Given the description of an element on the screen output the (x, y) to click on. 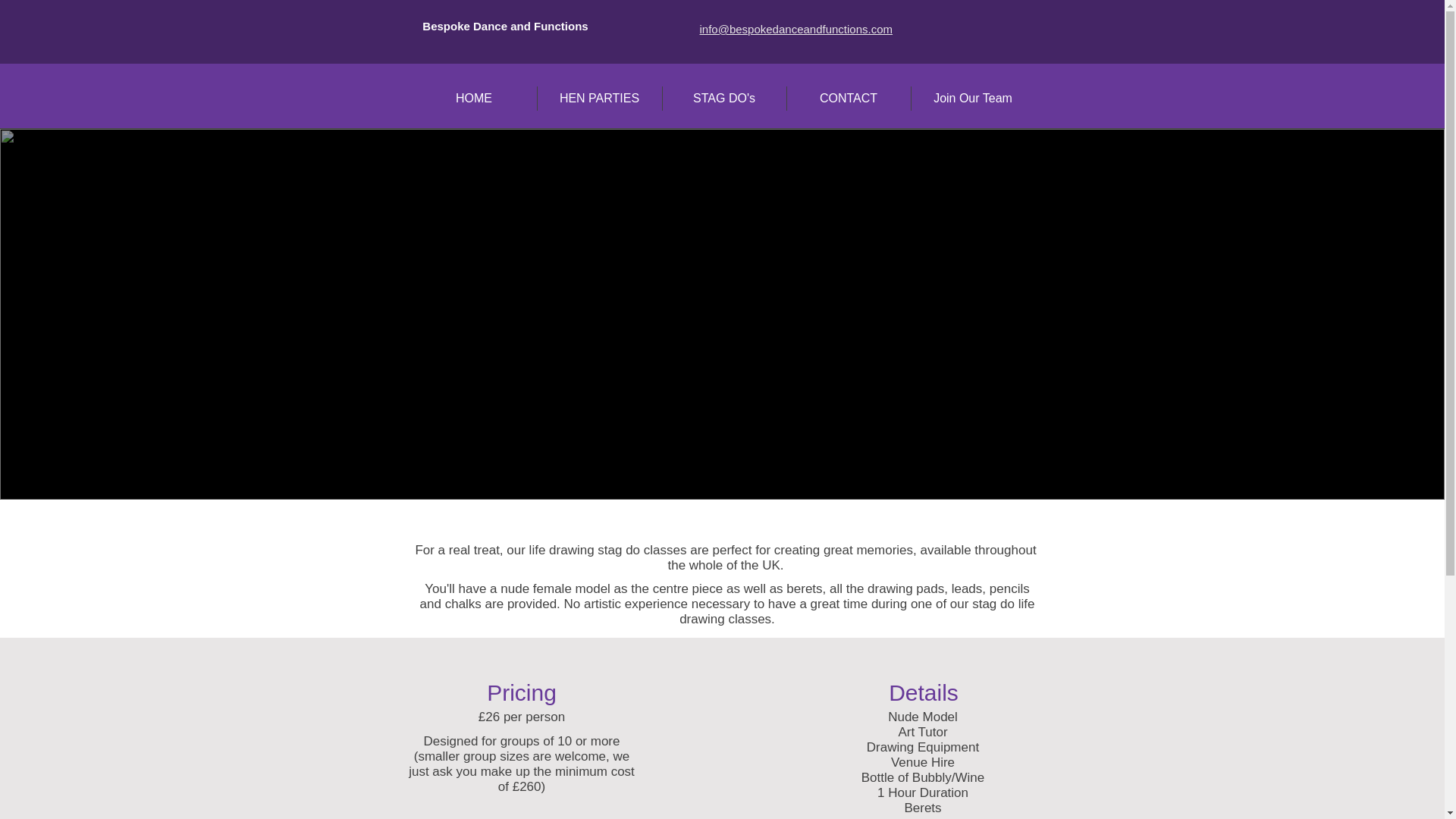
HOME (472, 98)
HEN PARTIES (599, 98)
Join Our Team (971, 98)
STAG DO's (723, 98)
CONTACT (848, 98)
